Given the description of an element on the screen output the (x, y) to click on. 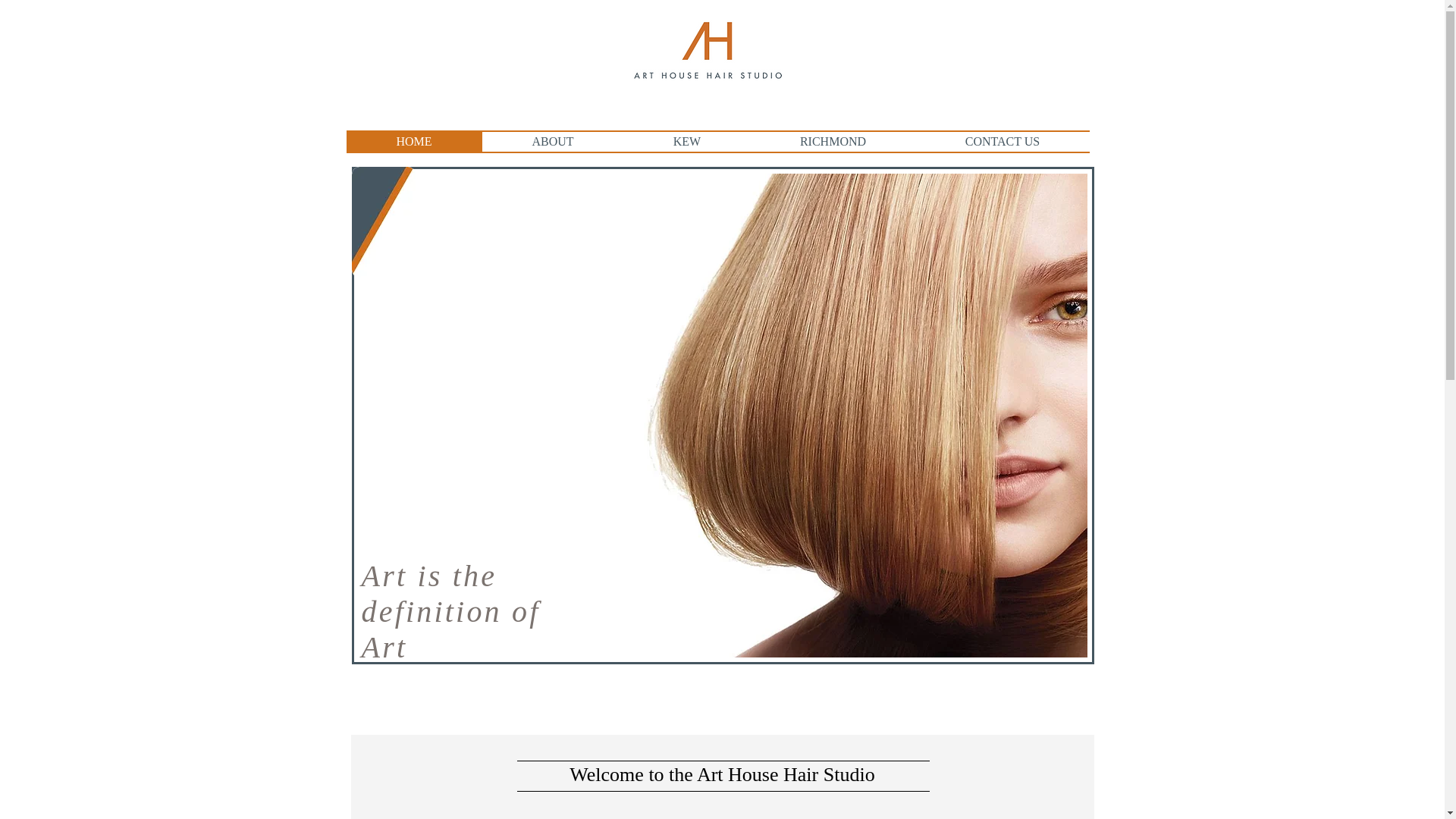
CONTACT US (1002, 141)
RICHMOND (833, 141)
ABOUT (552, 141)
KEW (686, 141)
HOME (413, 141)
